Given the description of an element on the screen output the (x, y) to click on. 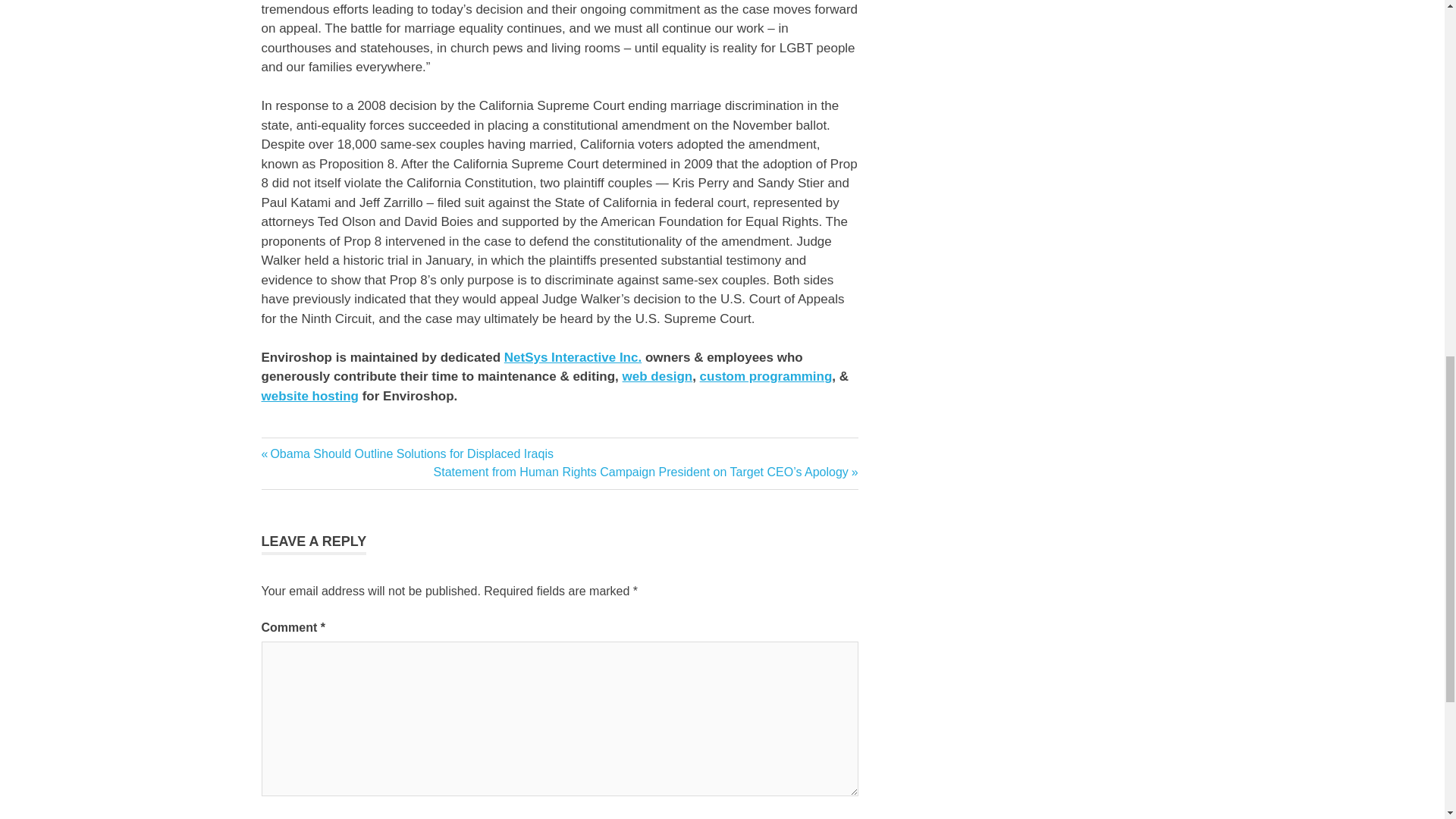
Advertisement (1020, 38)
